Given the description of an element on the screen output the (x, y) to click on. 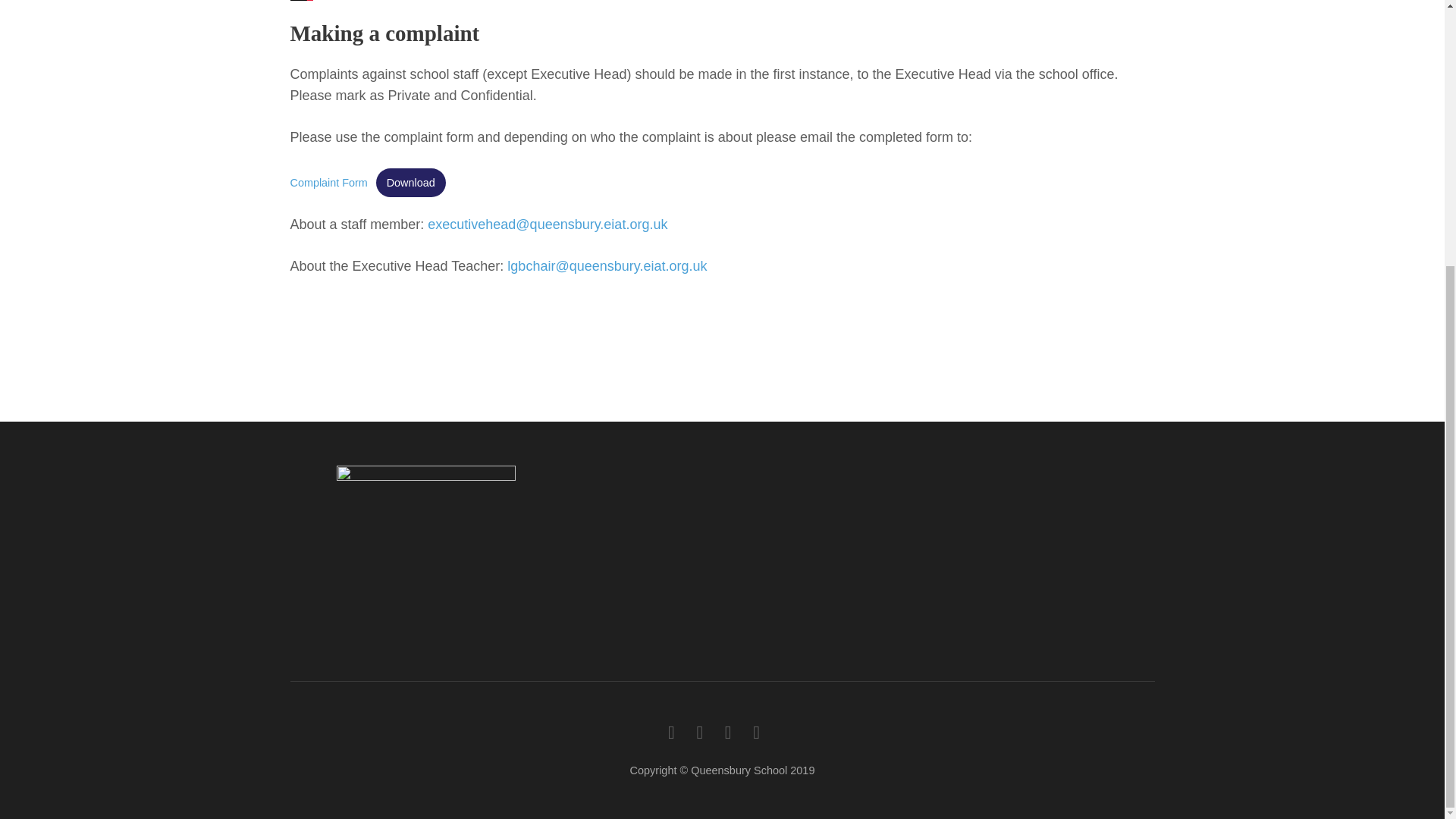
twitter (699, 731)
facebook (671, 731)
instagram (756, 731)
youtube (728, 731)
